Given the description of an element on the screen output the (x, y) to click on. 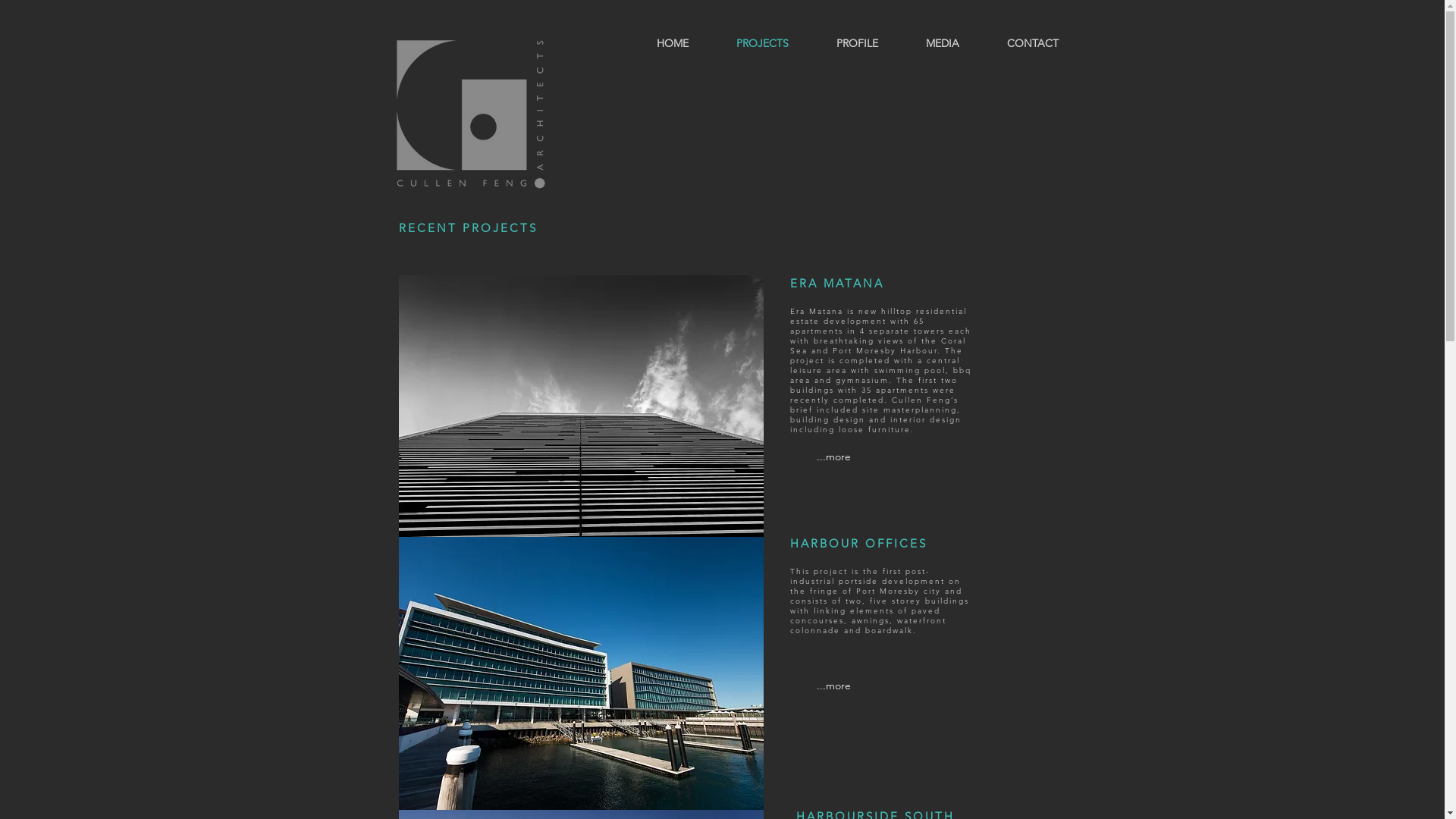
ERA MATANA Element type: text (837, 283)
MEDIA Element type: text (942, 42)
PROJECTS Element type: text (762, 42)
HOME Element type: text (672, 42)
PROFILE Element type: text (857, 42)
...more Element type: text (834, 685)
...more Element type: text (834, 456)
CONTACT Element type: text (1032, 42)
HARBOUR OFFICES Element type: text (858, 543)
